Given the description of an element on the screen output the (x, y) to click on. 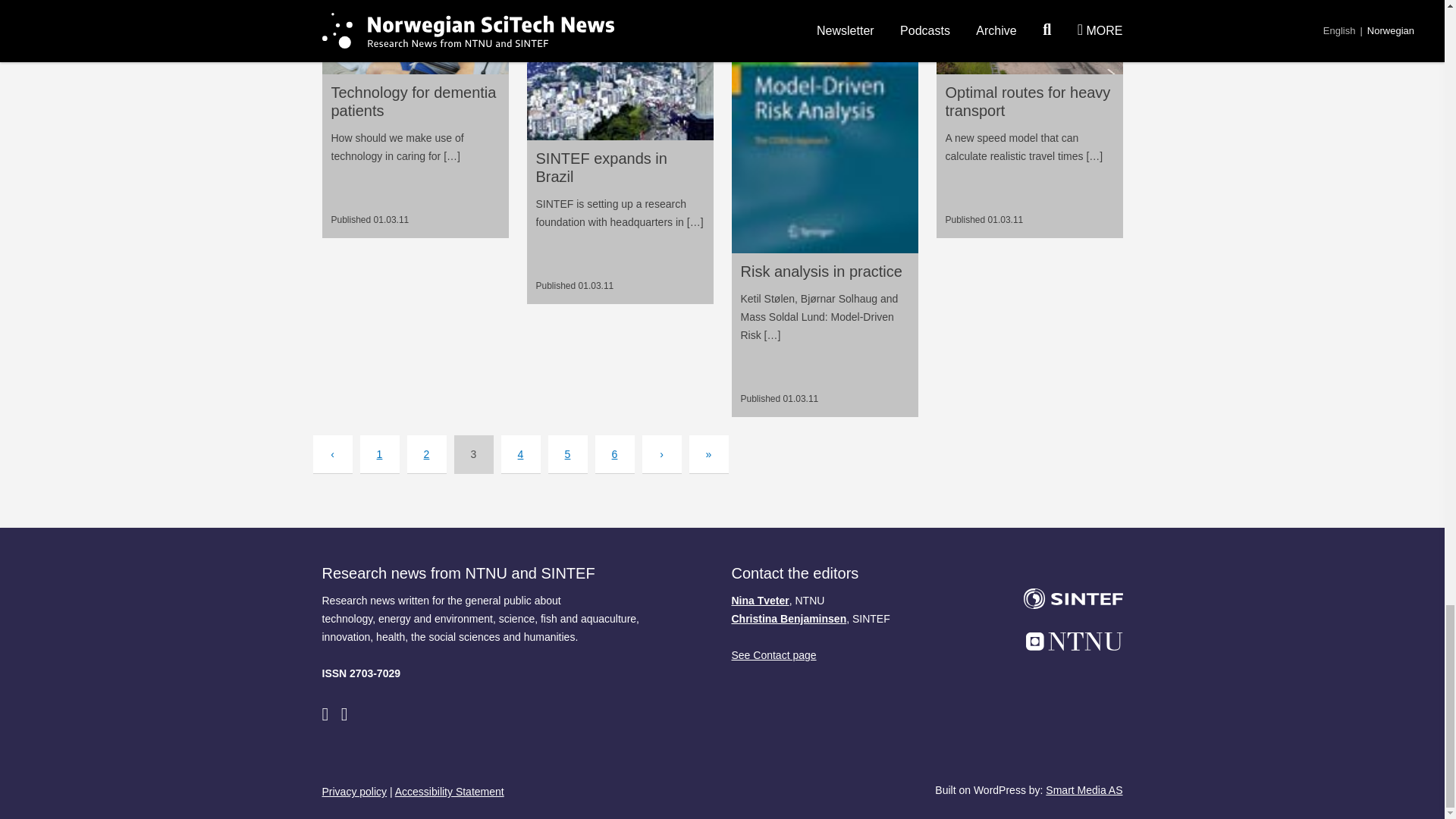
Smart Media (1083, 789)
Read about our Privacy Policy (354, 791)
ntnu.no (1063, 644)
sintef.no (1063, 601)
